Given the description of an element on the screen output the (x, y) to click on. 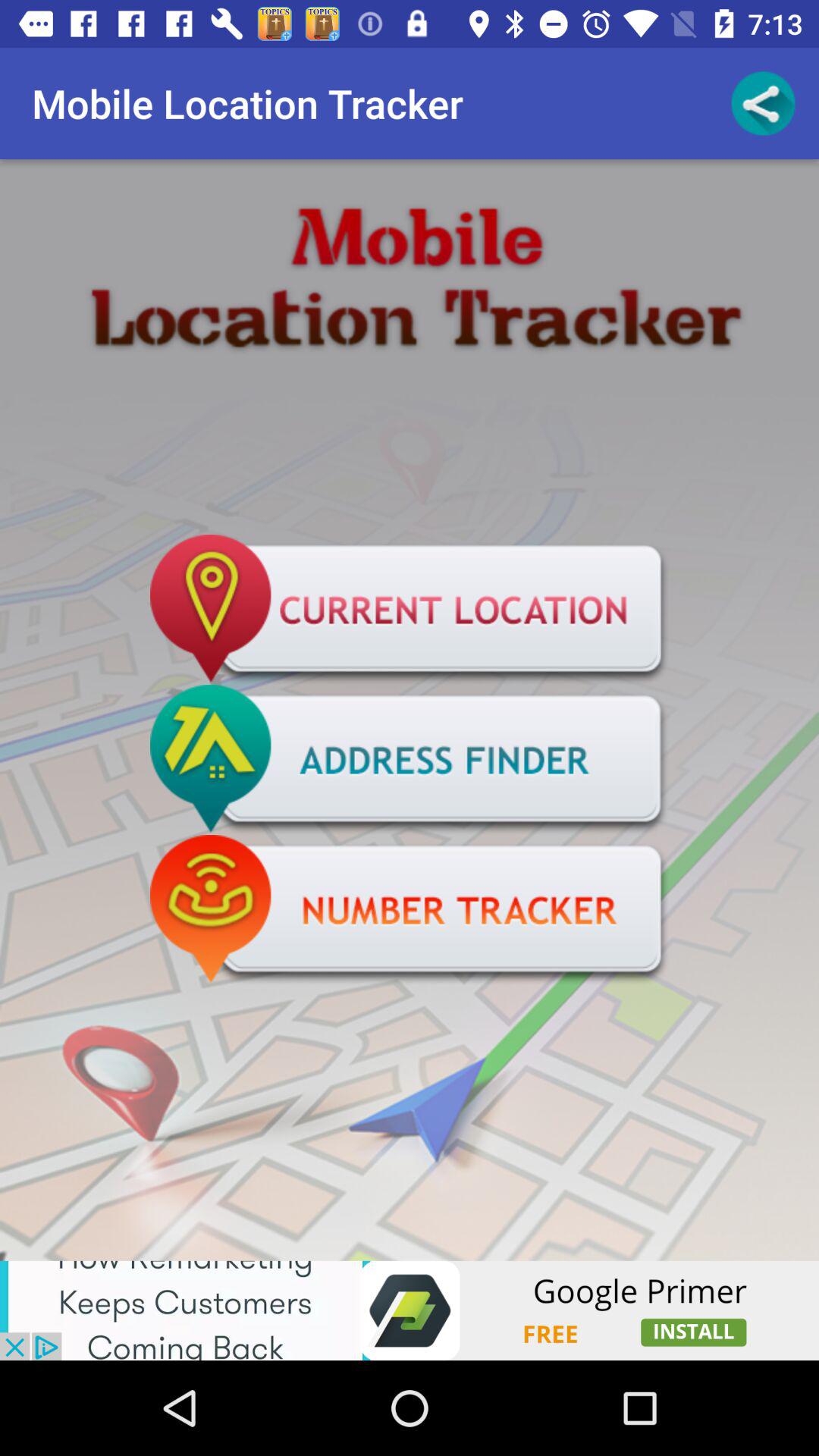
show my current location (409, 609)
